Given the description of an element on the screen output the (x, y) to click on. 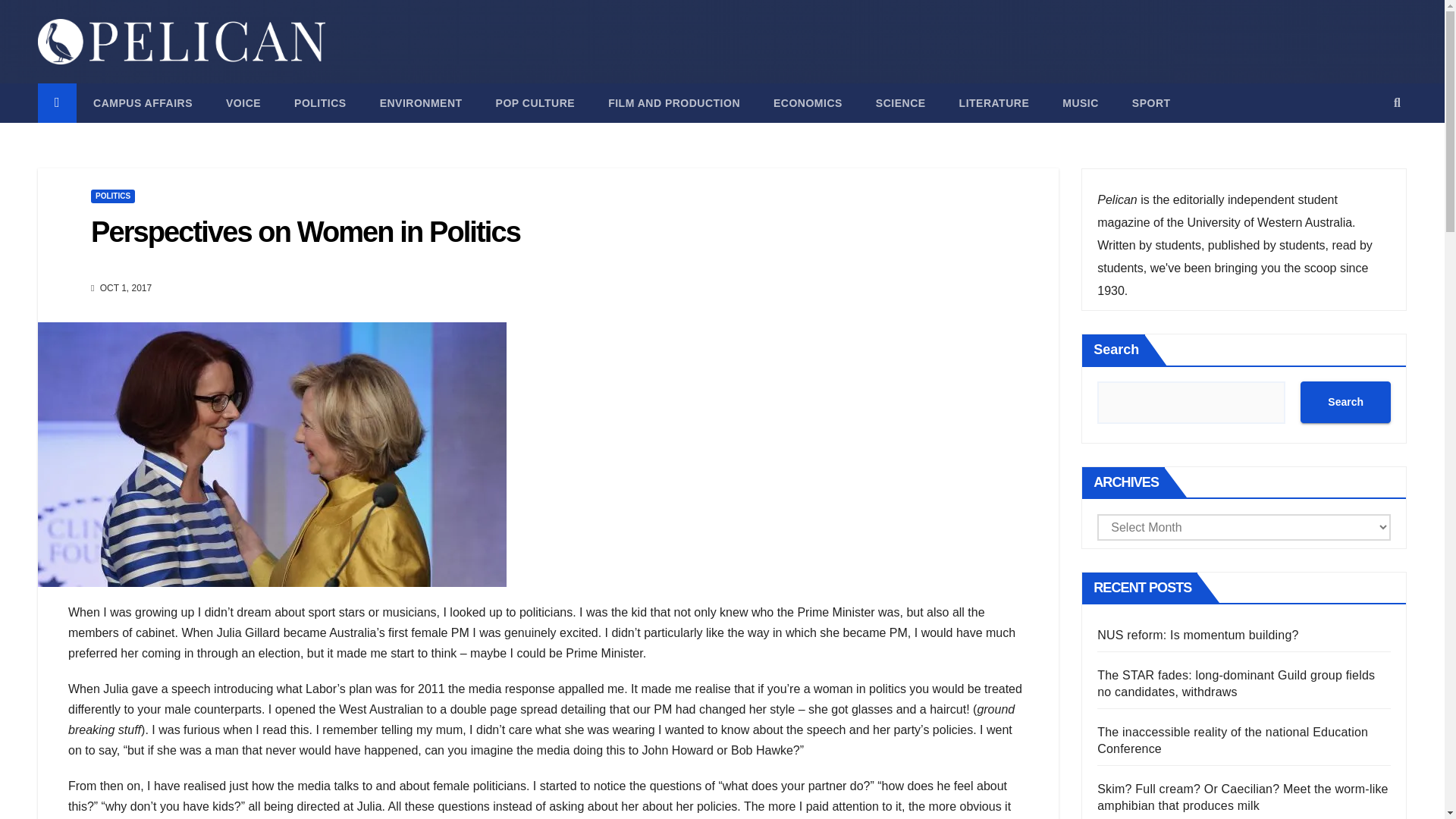
POLITICS (112, 196)
LITERATURE (994, 102)
Environment (420, 102)
ECONOMICS (808, 102)
Politics (320, 102)
CAMPUS AFFAIRS (143, 102)
Music (1080, 102)
SCIENCE (900, 102)
Literature (994, 102)
Pop Culture (535, 102)
